Given the description of an element on the screen output the (x, y) to click on. 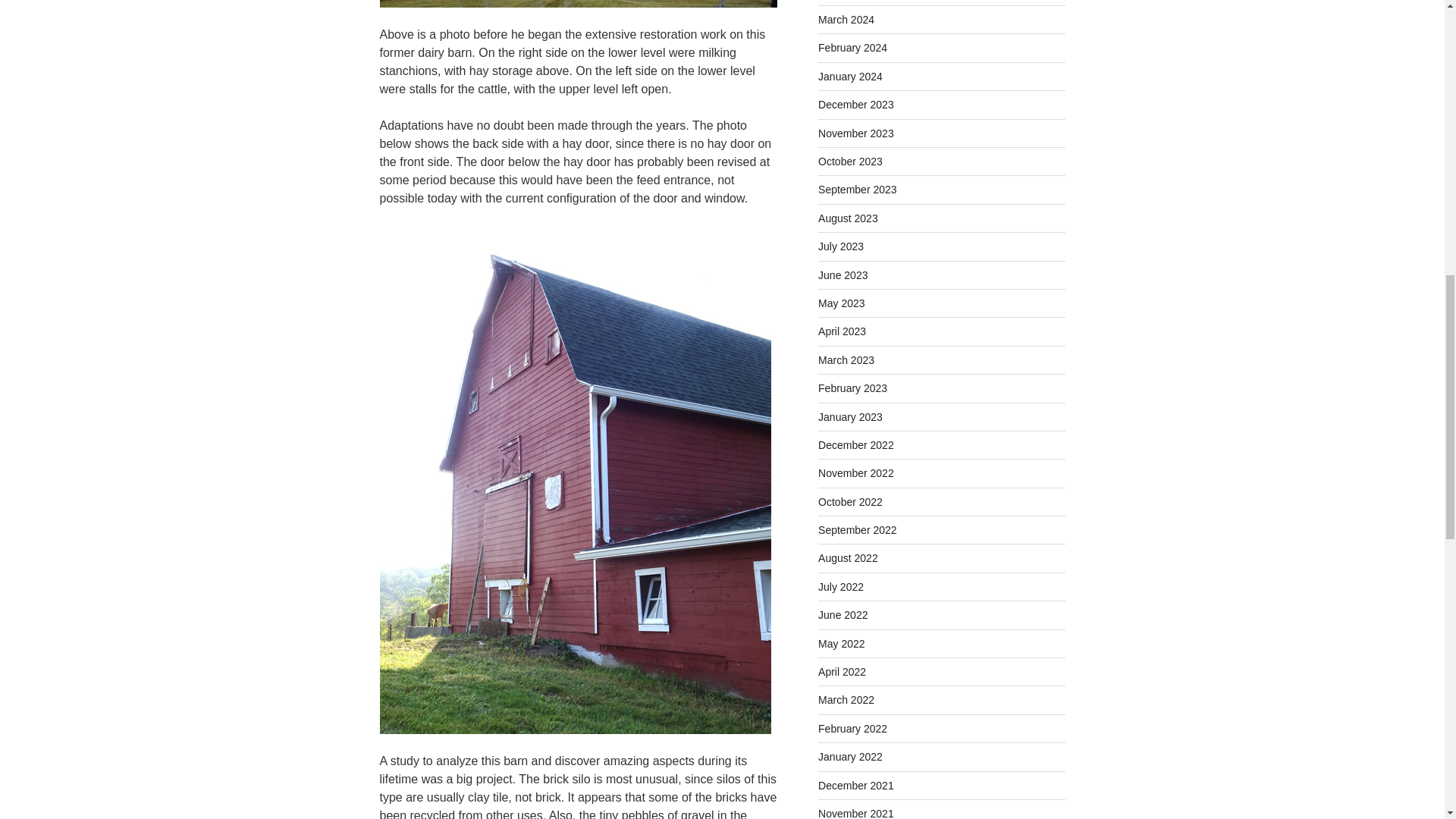
June 2023 (842, 275)
October 2023 (850, 161)
August 2023 (847, 218)
March 2023 (846, 359)
March 2024 (846, 19)
January 2024 (850, 76)
November 2023 (855, 133)
May 2023 (841, 303)
April 2023 (842, 331)
September 2023 (857, 189)
February 2024 (852, 47)
July 2023 (840, 246)
December 2023 (855, 104)
